Given the description of an element on the screen output the (x, y) to click on. 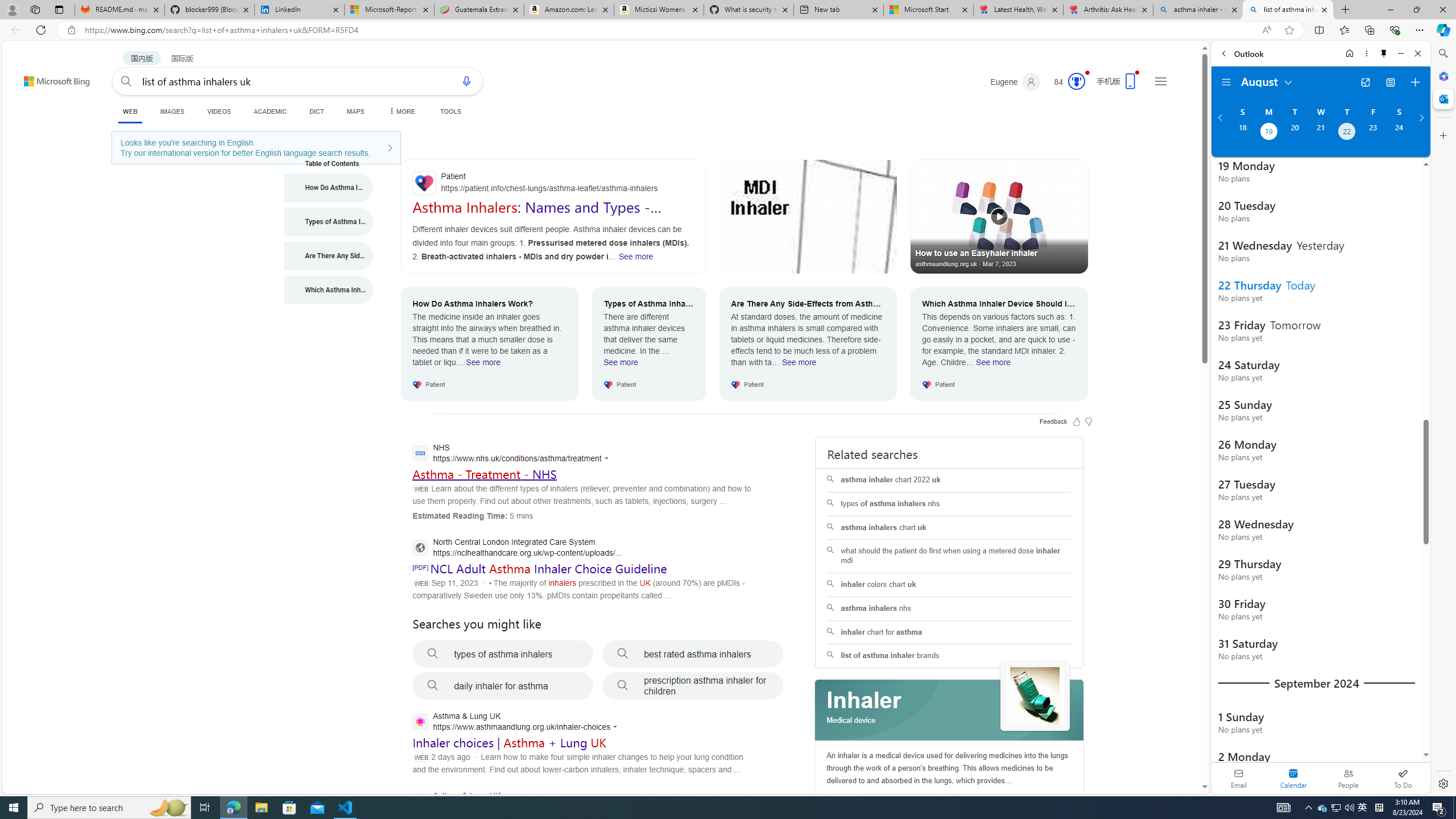
asthma inhalers chart uk (949, 527)
asthma inhalers nhs (949, 608)
ACADEMIC (269, 111)
See more images of Inhaler (1035, 696)
WEB (129, 112)
asthma inhalers chart uk (949, 527)
list of asthma inhalers uk - Search (1287, 9)
